Given the description of an element on the screen output the (x, y) to click on. 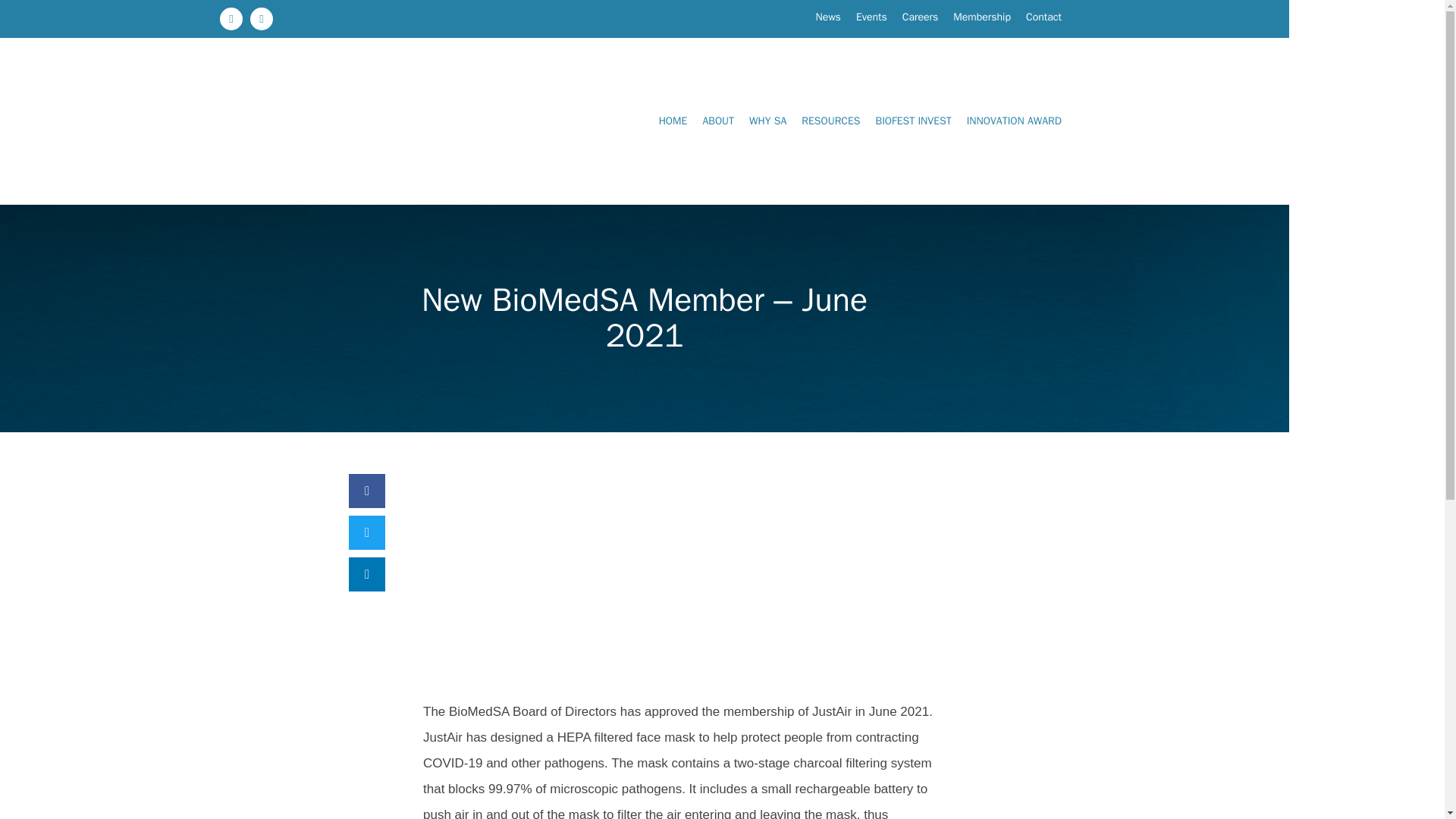
Contact (1042, 17)
Events (871, 17)
INNOVATION AWARD (1013, 120)
BIOFEST INVEST (913, 120)
ABOUT (717, 120)
Membership (980, 17)
RESOURCES (830, 120)
News (828, 17)
HOME (672, 120)
WHY SA (767, 120)
Careers (920, 17)
